Given the description of an element on the screen output the (x, y) to click on. 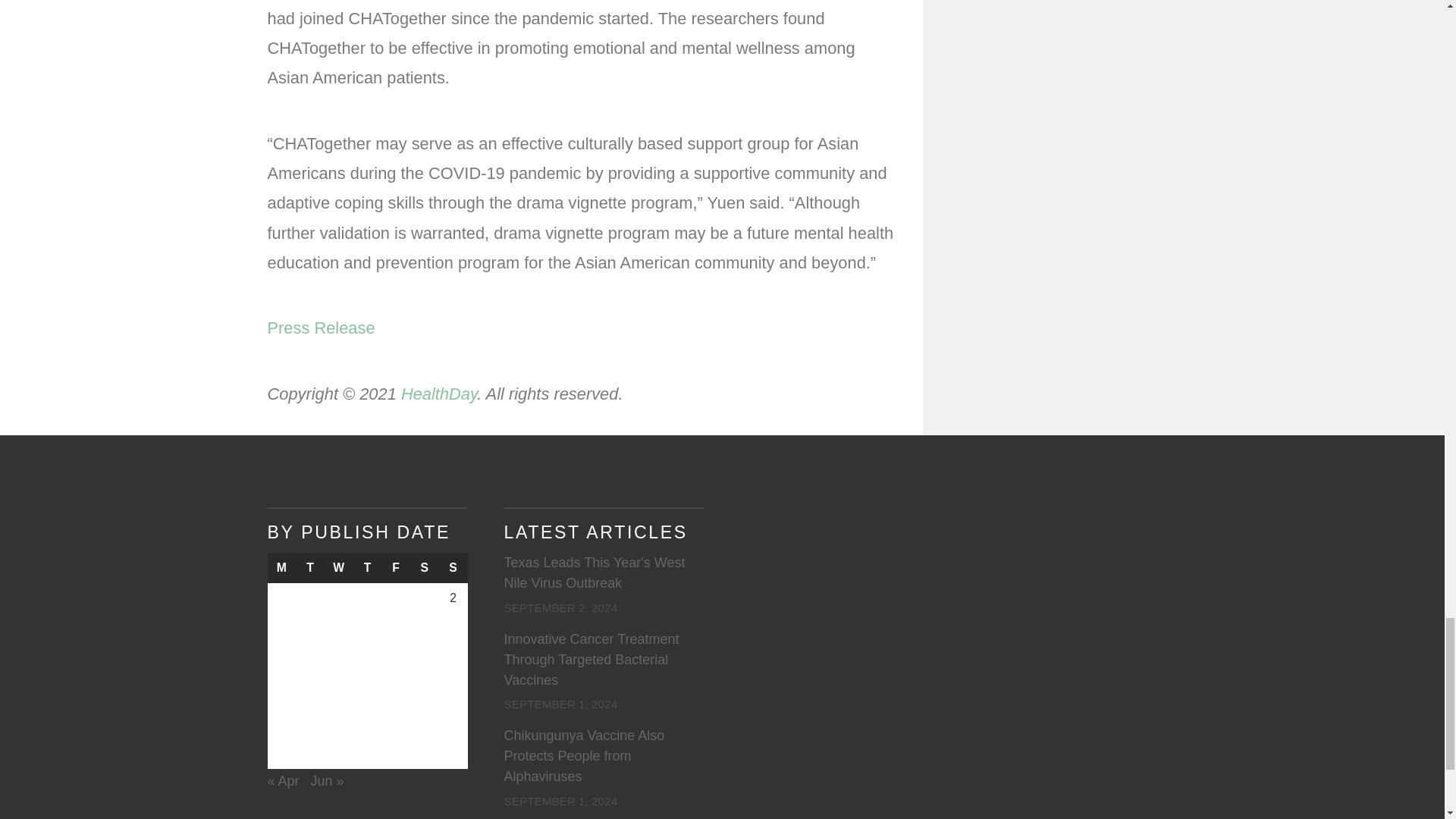
Tuesday (309, 567)
Press Release (320, 327)
HealthDay (439, 393)
Monday (280, 567)
Wednesday (338, 567)
